Given the description of an element on the screen output the (x, y) to click on. 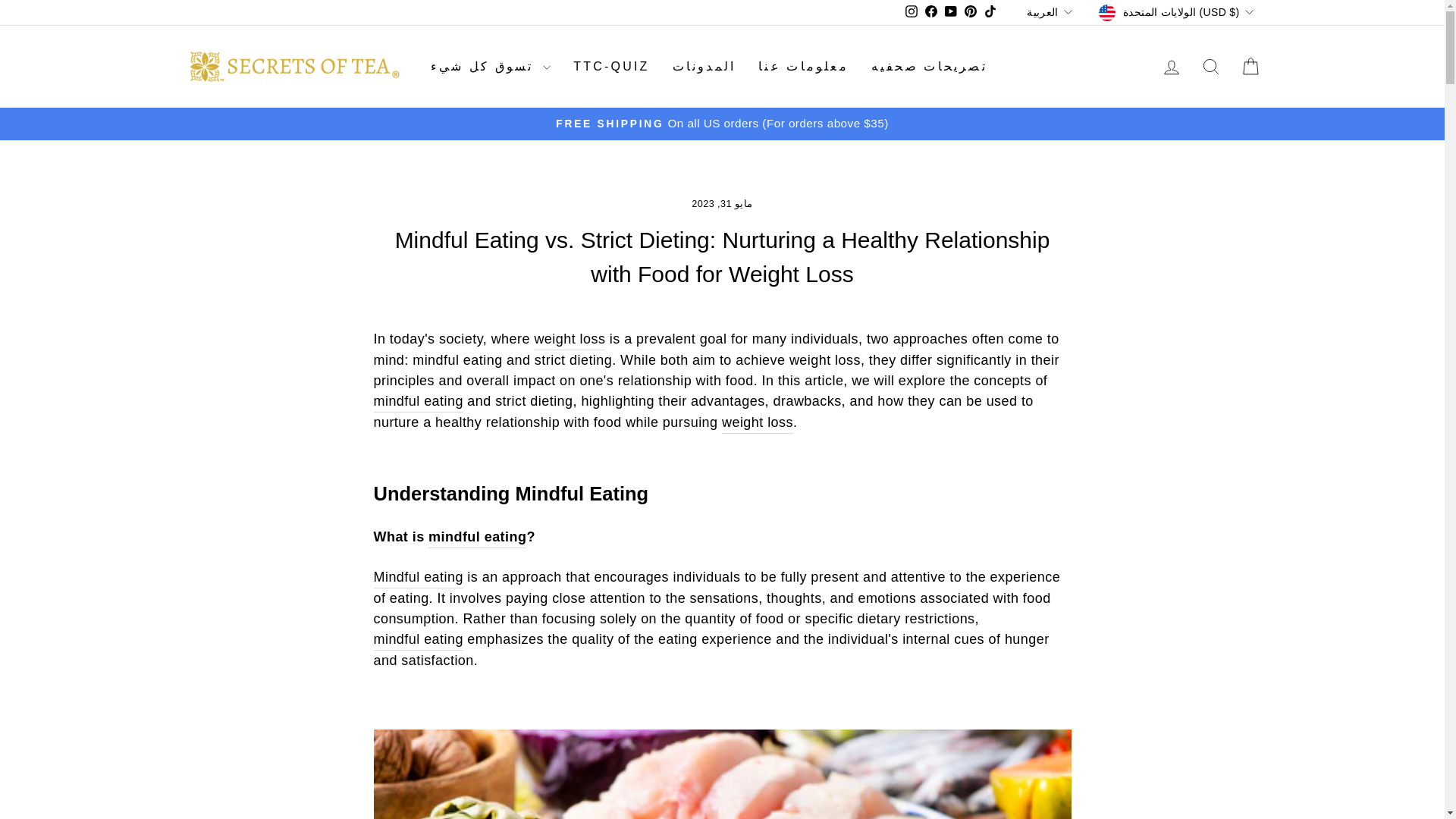
ACCOUNT (1170, 66)
instagram (911, 10)
ICON-SEARCH (1210, 66)
